Given the description of an element on the screen output the (x, y) to click on. 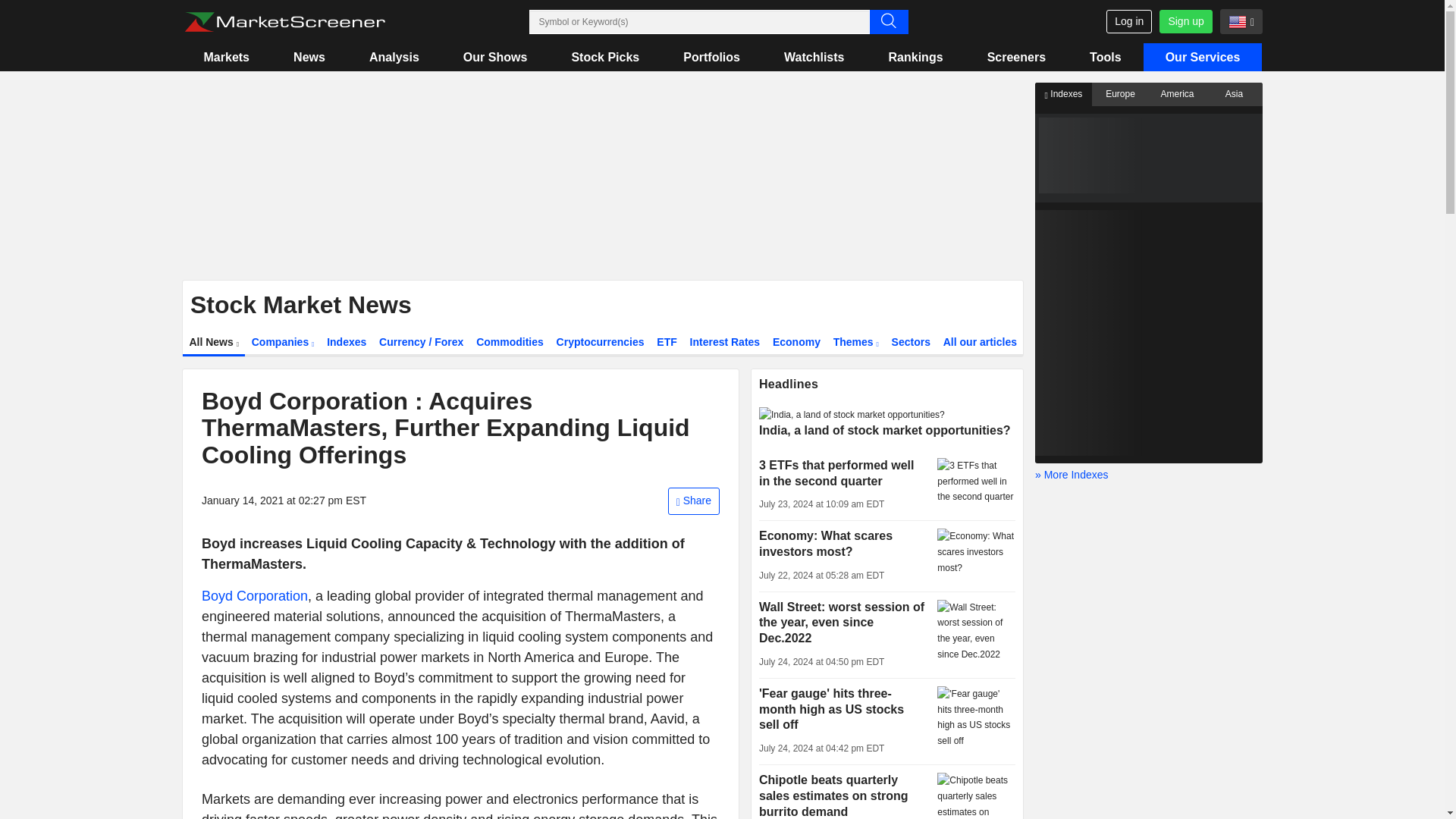
Sign up (1184, 21)
Marketscreener: stock market and financial news (284, 21)
Advanced search (888, 21)
Markets (226, 57)
Log in (1128, 21)
